Given the description of an element on the screen output the (x, y) to click on. 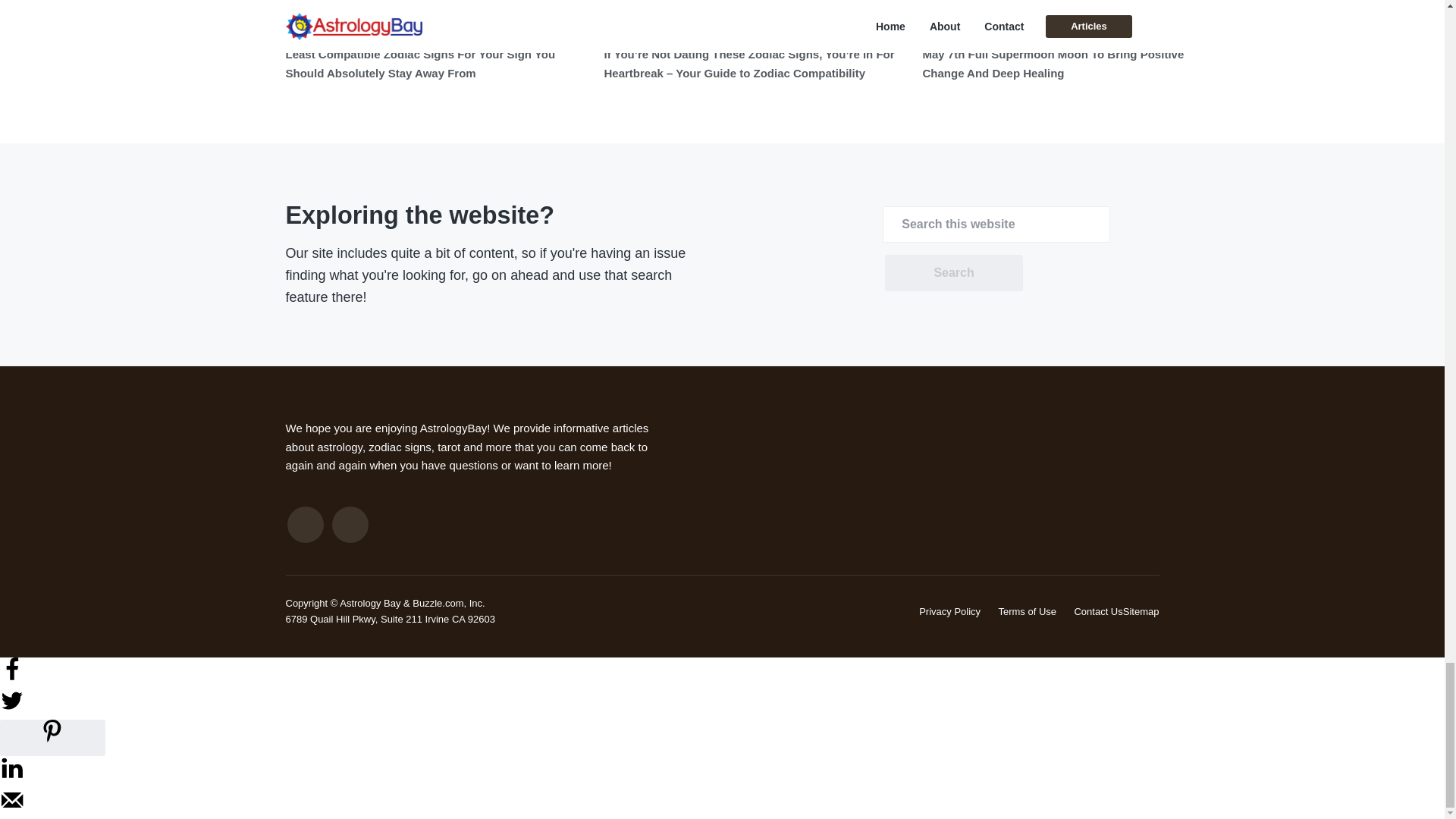
Search (953, 272)
Search (953, 272)
